Given the description of an element on the screen output the (x, y) to click on. 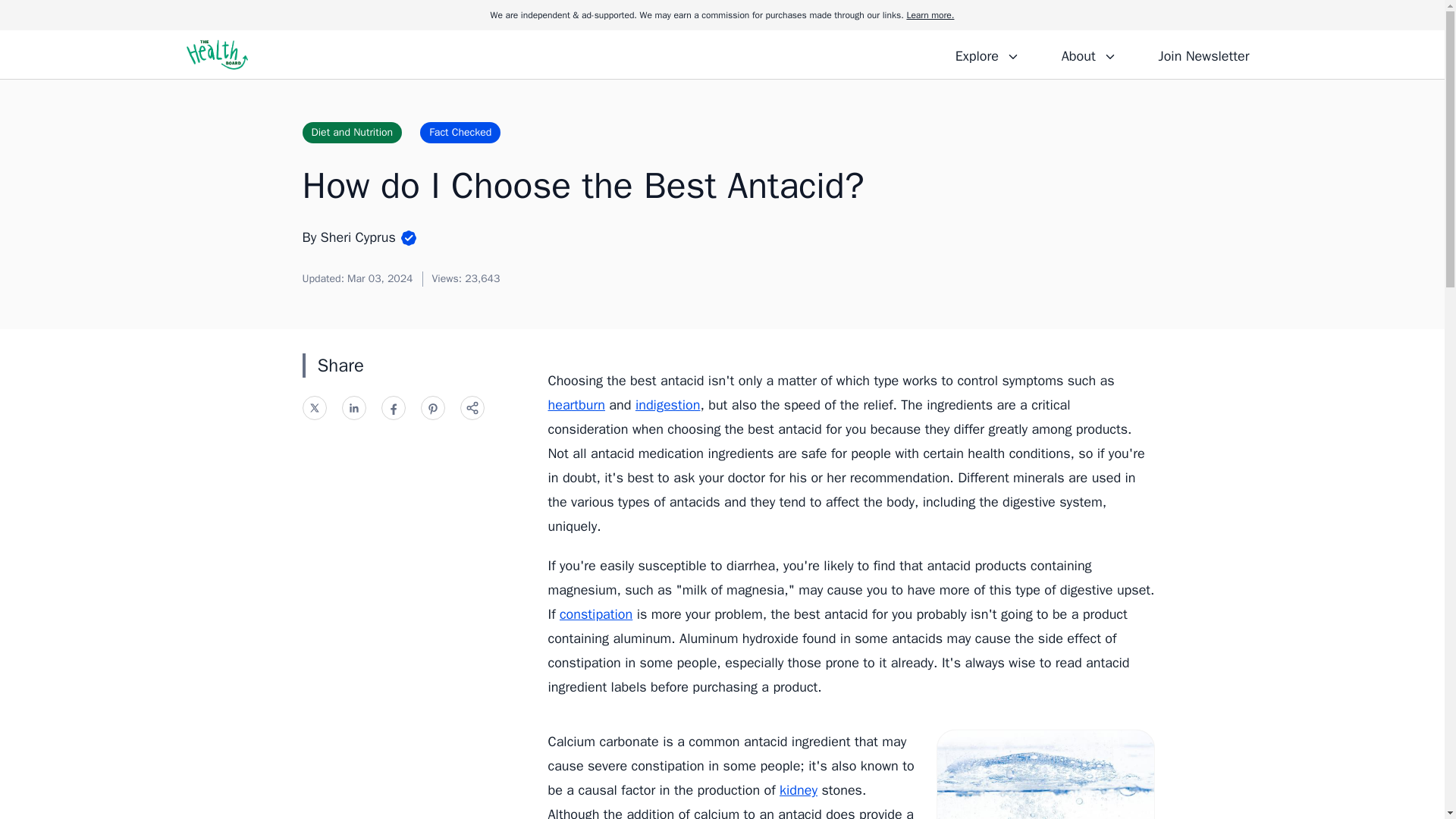
constipation (595, 614)
heartburn (575, 404)
Explore (986, 54)
indigestion (667, 404)
Fact Checked (460, 132)
Diet and Nutrition (351, 132)
About (1088, 54)
Learn more. (929, 15)
kidney (797, 790)
Join Newsletter (1202, 54)
